Given the description of an element on the screen output the (x, y) to click on. 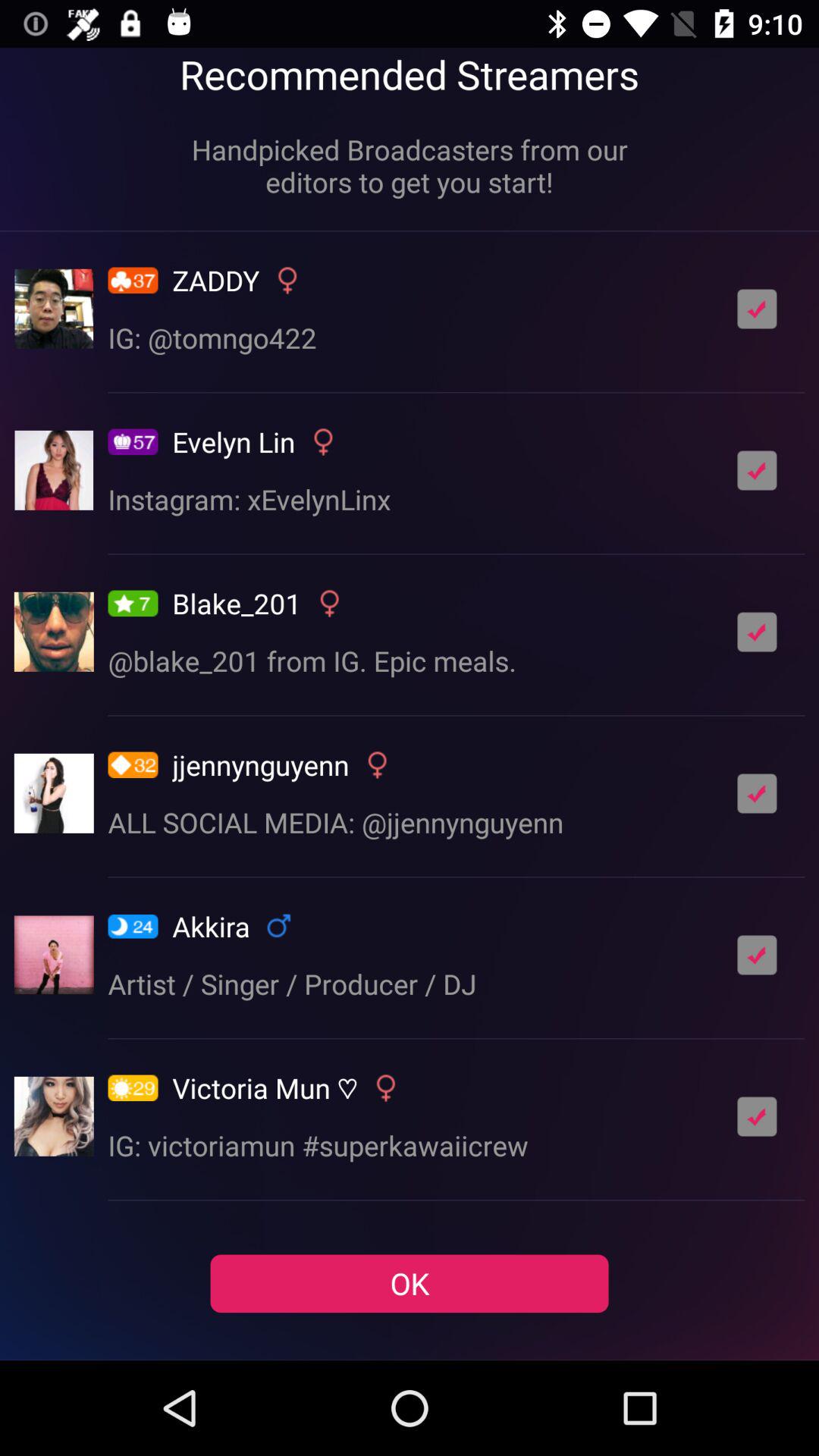
would add akkira to a playlist (756, 954)
